Given the description of an element on the screen output the (x, y) to click on. 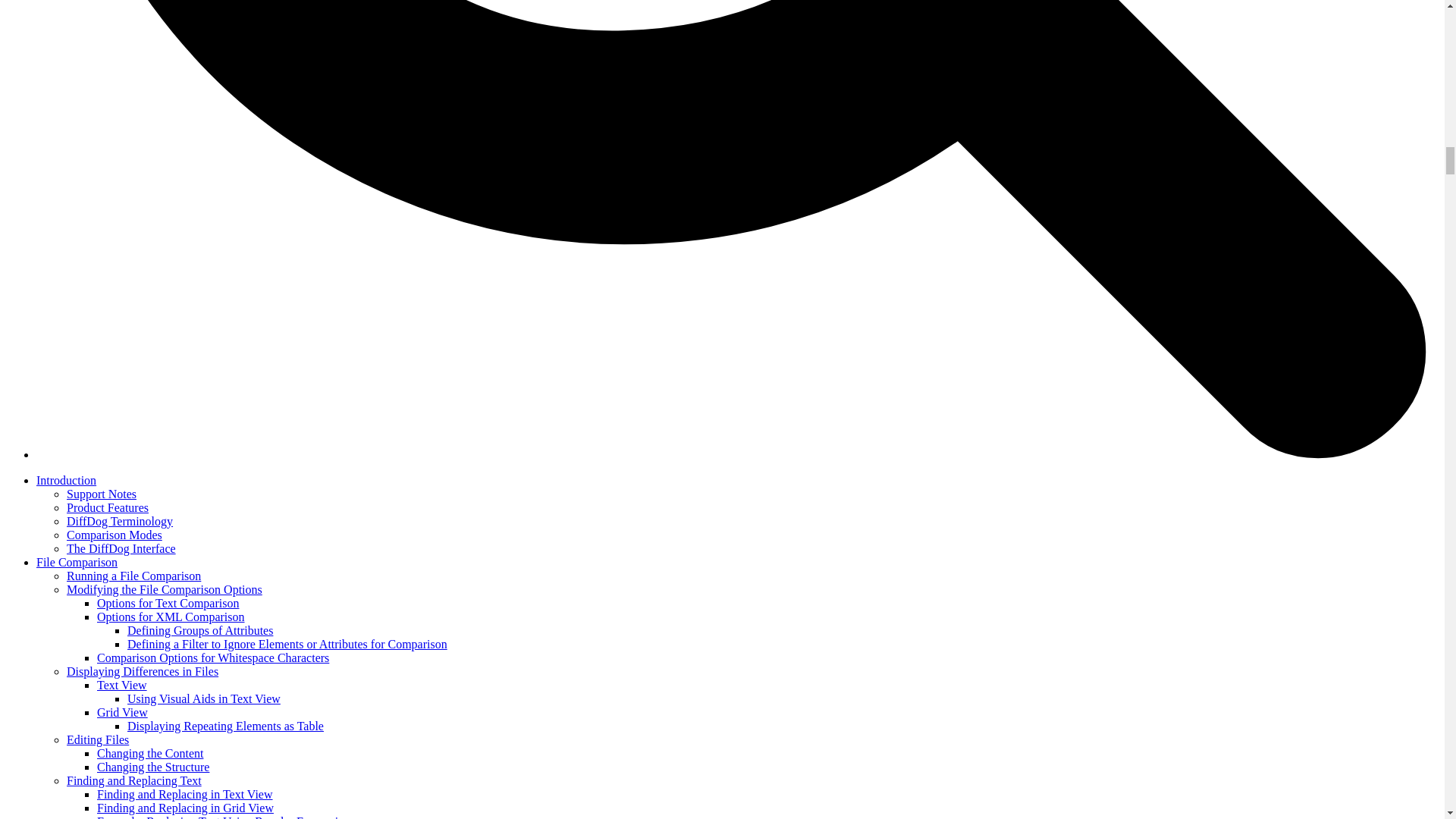
Finding and Replacing in Text View (185, 793)
Displaying Repeating Elements as Table (225, 725)
The DiffDog Interface (121, 548)
Example: Replacing Text Using Regular Expressions (226, 816)
Using Visual Aids in Text View (204, 698)
Finding and Replacing in Grid View (185, 807)
Changing the Content (150, 753)
Text View (122, 684)
Product Features (107, 507)
DiffDog Terminology (119, 521)
Modifying the File Comparison Options (164, 589)
Finding and Replacing Text (134, 780)
Introduction (66, 480)
Defining Groups of Attributes (200, 630)
Grid View (122, 712)
